Given the description of an element on the screen output the (x, y) to click on. 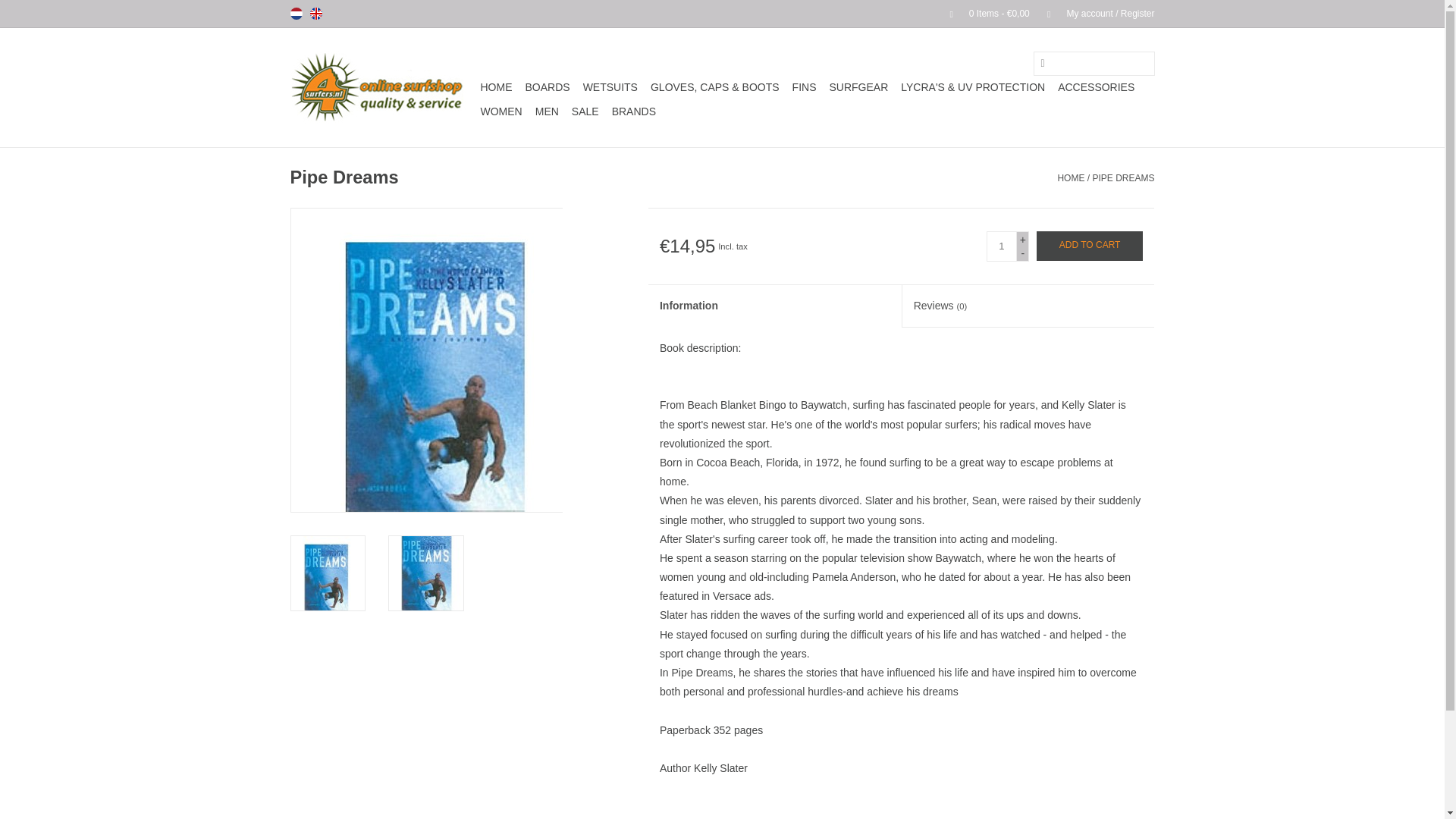
My account (1093, 13)
Boards (546, 87)
1 (1001, 245)
Cart (983, 13)
4surfers.nl (382, 87)
English (314, 13)
Nederlands (295, 13)
Nederlands (295, 13)
BOARDS (546, 87)
English (314, 13)
